Given the description of an element on the screen output the (x, y) to click on. 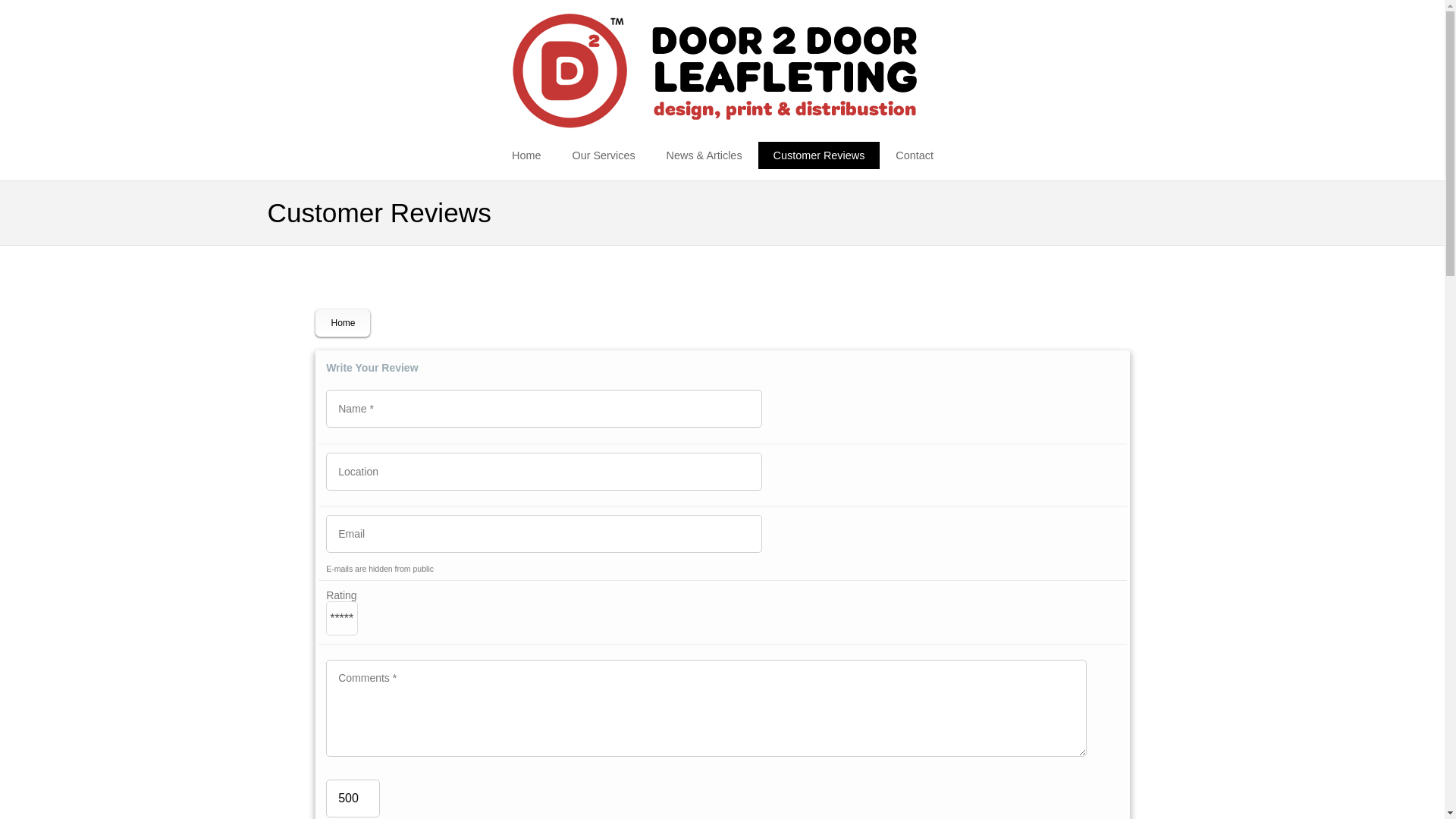
500 (353, 798)
Home (526, 154)
Contact (914, 154)
Our Services (602, 154)
Customer Reviews (819, 154)
Home (342, 322)
